Given the description of an element on the screen output the (x, y) to click on. 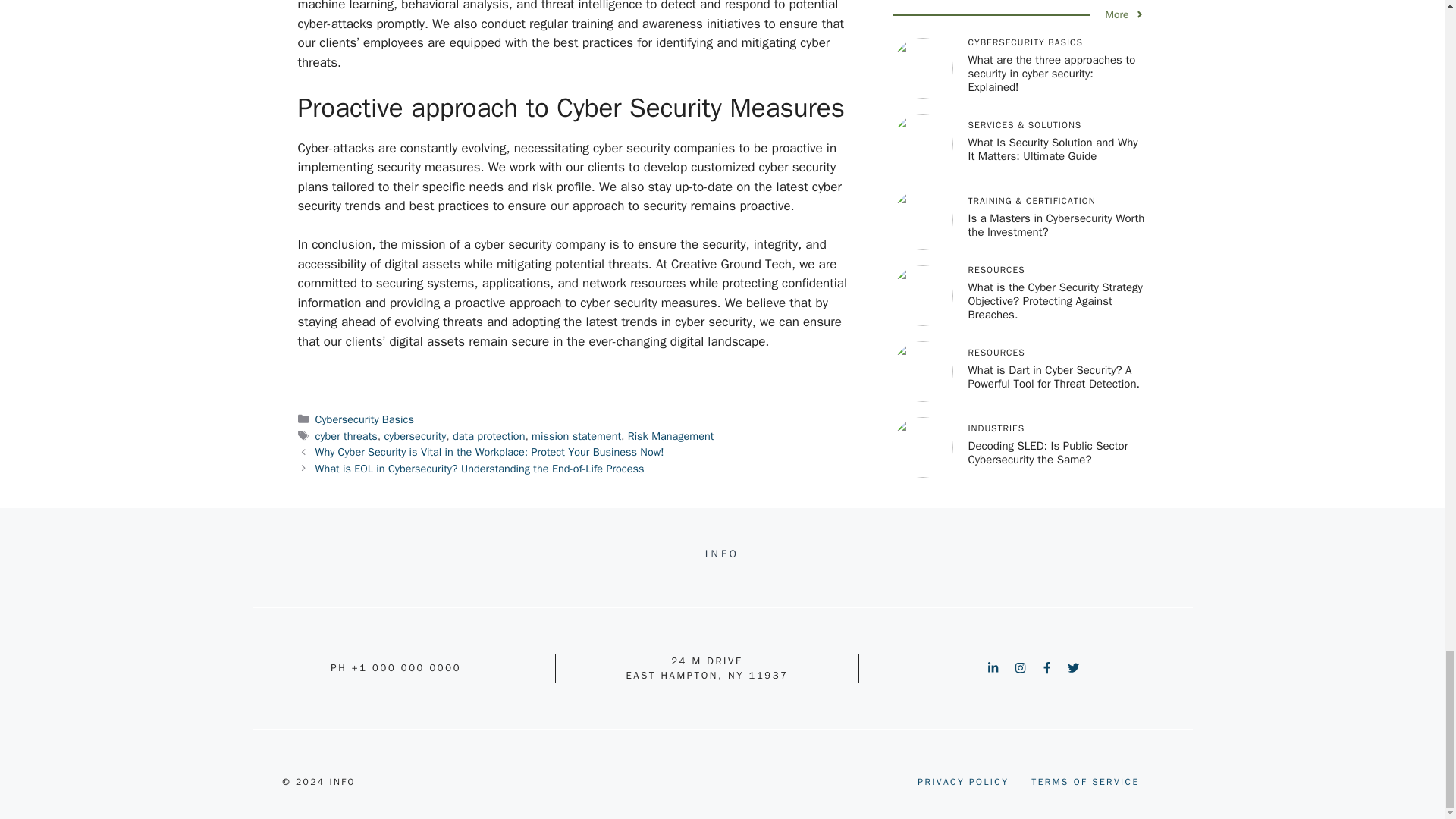
TERMS OF SERVICE (1084, 781)
Cybersecurity Basics (364, 418)
PRIVACY POLICY (963, 781)
Risk Management (670, 436)
mission statement (576, 436)
data protection (488, 436)
cybersecurity (414, 436)
cyber threats (346, 436)
